Given the description of an element on the screen output the (x, y) to click on. 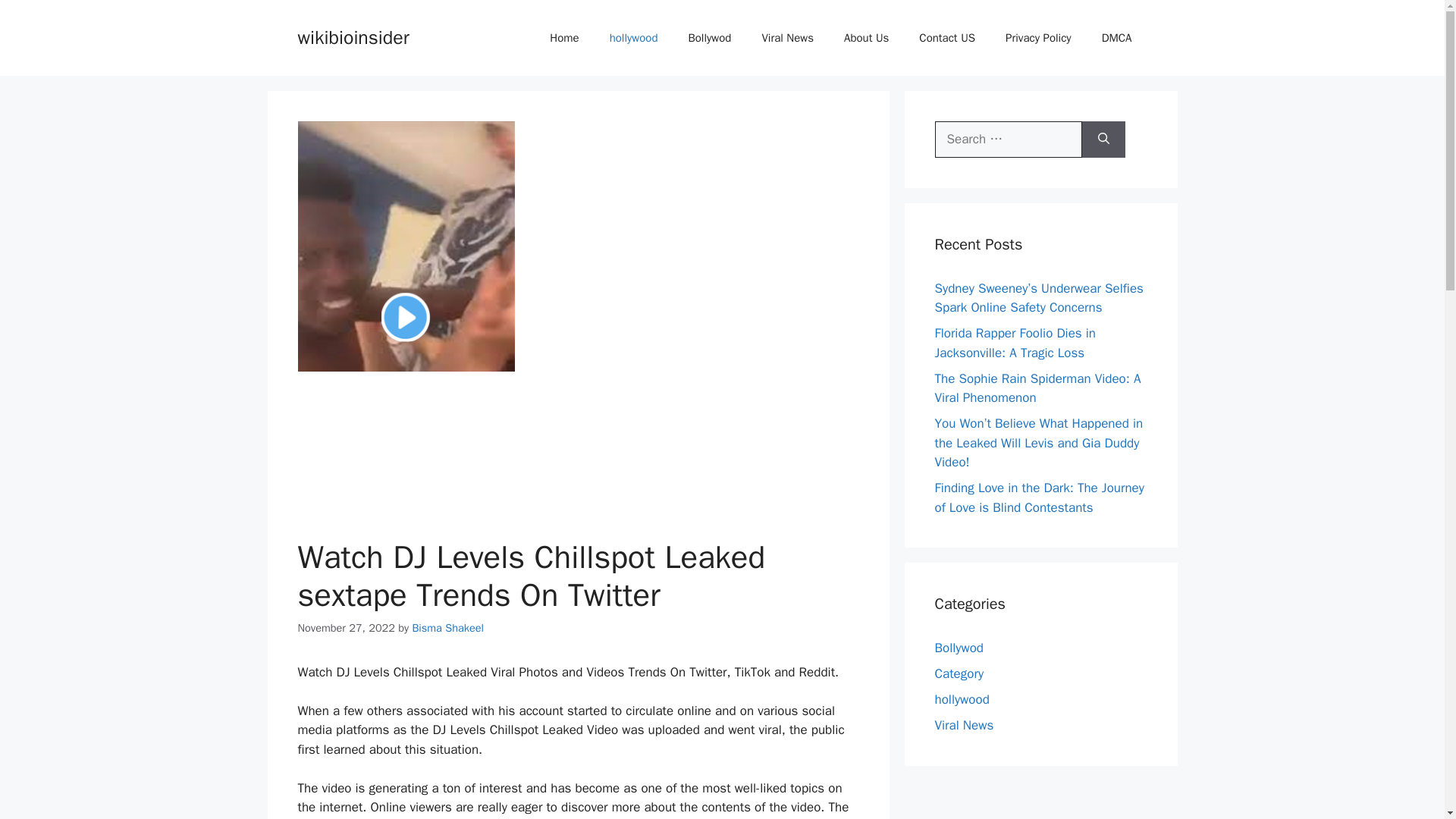
Search for: (1007, 139)
Viral News (963, 725)
hollywood (961, 699)
Florida Rapper Foolio Dies in Jacksonville: A Tragic Loss (1014, 343)
Home (564, 37)
wikibioinsider (353, 37)
Category (959, 673)
Bisma Shakeel (447, 627)
About Us (866, 37)
Bollywod (959, 647)
